Given the description of an element on the screen output the (x, y) to click on. 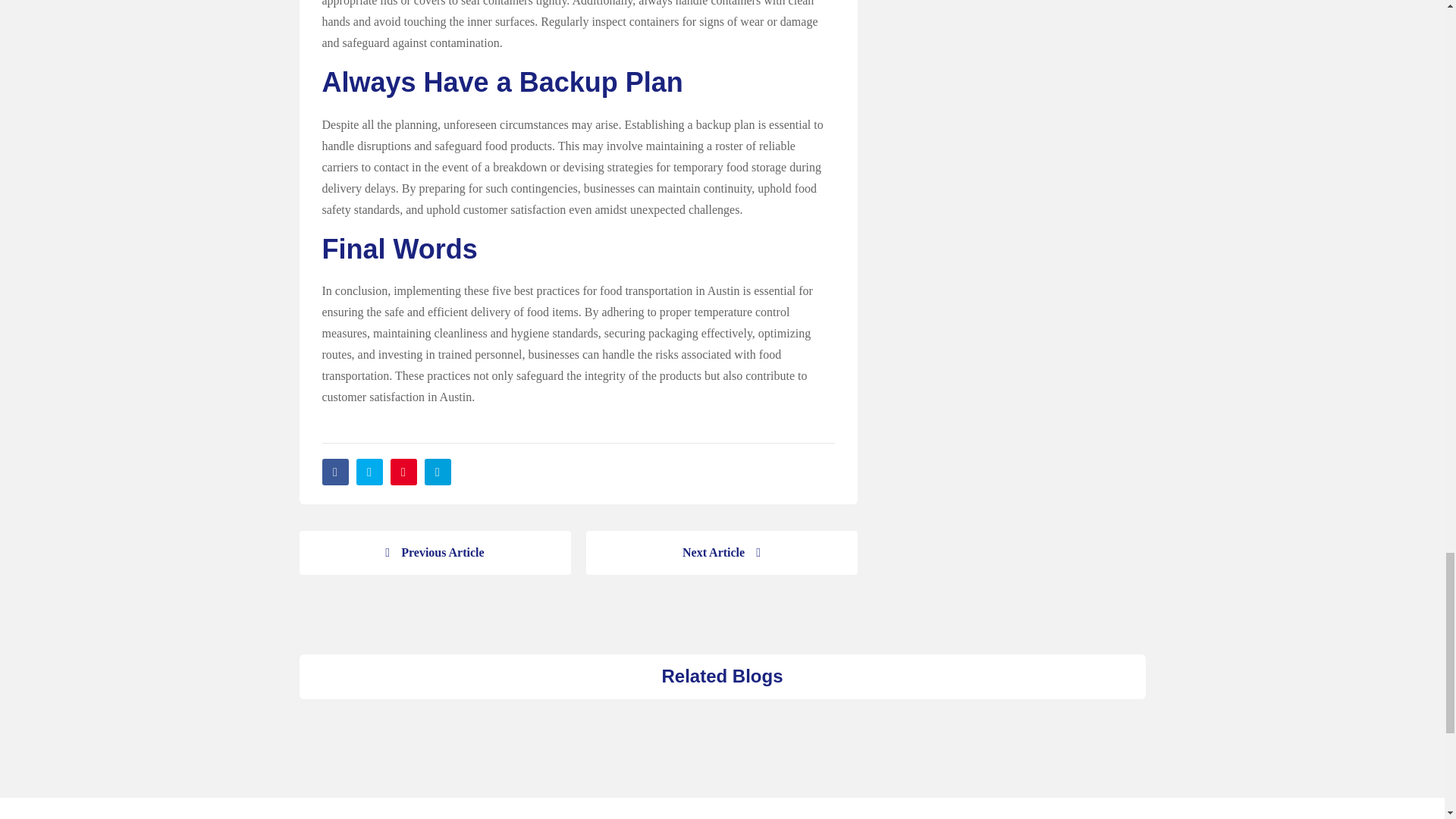
Next Article (721, 552)
Previous Article (434, 552)
